Given the description of an element on the screen output the (x, y) to click on. 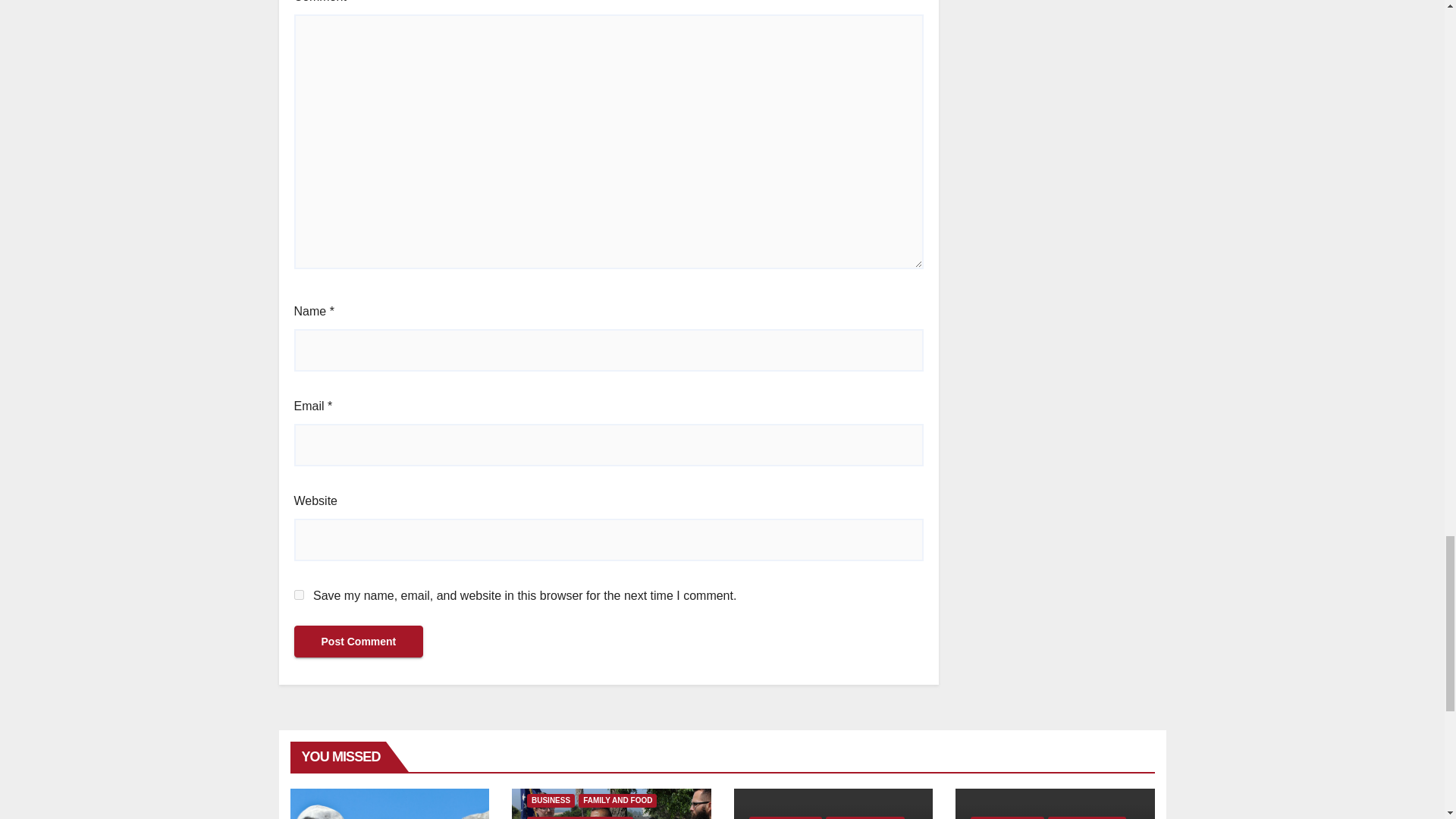
yes (299, 594)
Post Comment (358, 641)
